Given the description of an element on the screen output the (x, y) to click on. 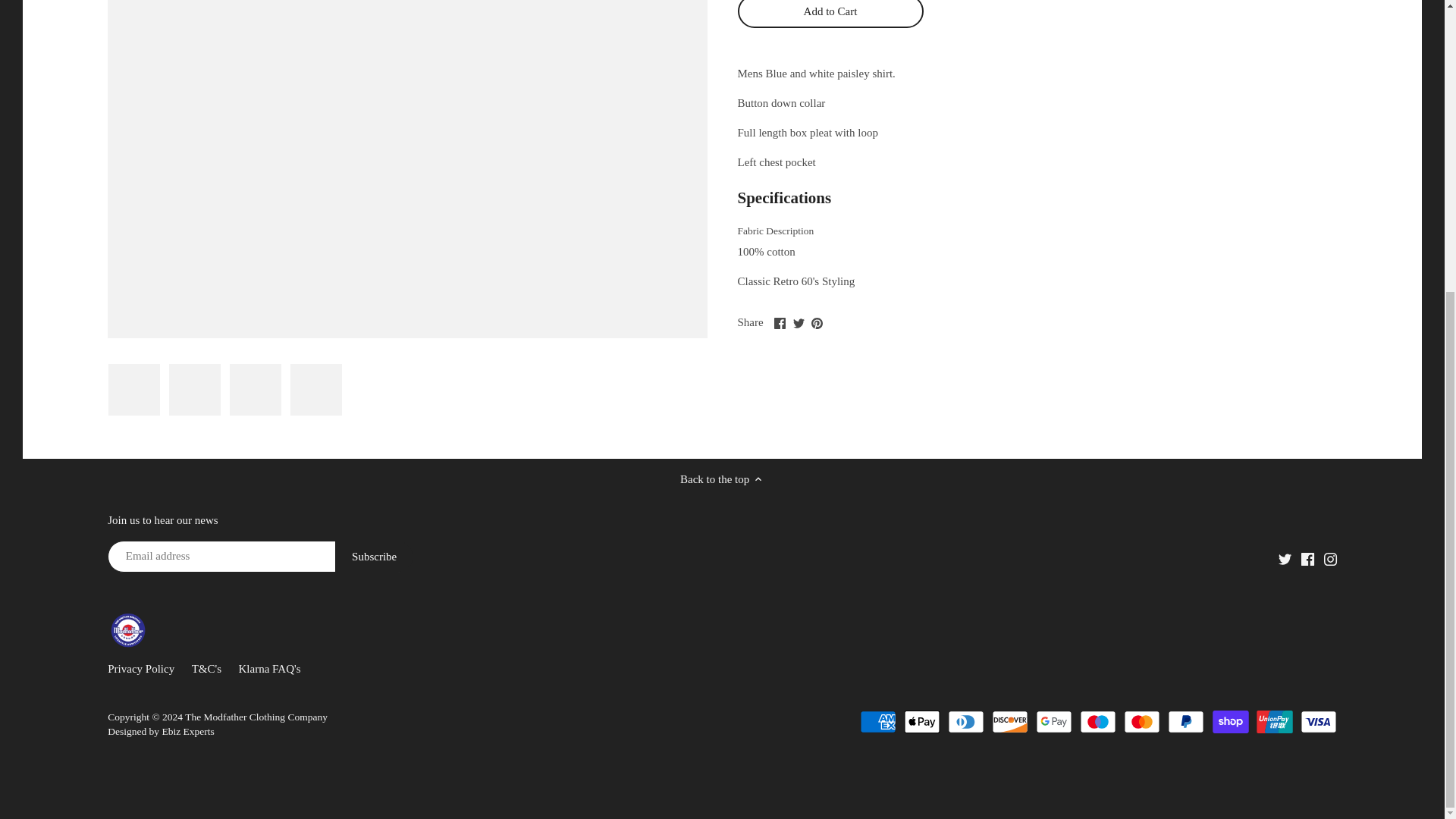
Subscribe (373, 556)
Apple Pay (922, 721)
Twitter (1284, 558)
Instagram (1329, 558)
Pinterest (816, 323)
Twitter (799, 323)
Facebook (1307, 558)
Facebook (780, 323)
American Express (878, 721)
